Given the description of an element on the screen output the (x, y) to click on. 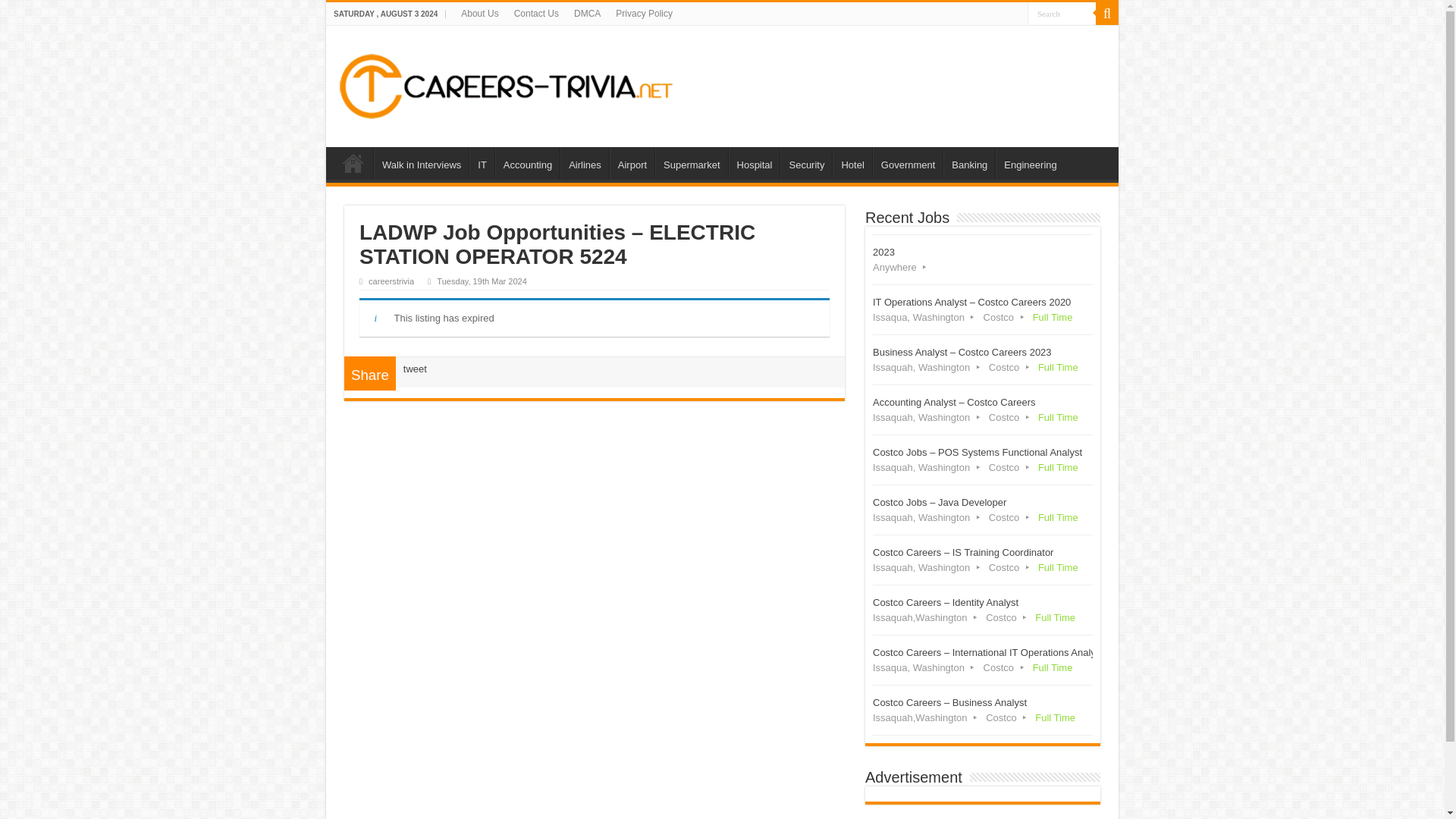
Privacy Policy (643, 13)
Supermarket (690, 163)
Search (1061, 13)
Government (907, 163)
careerstrivia (390, 280)
tweet (414, 368)
Contact Us (536, 13)
Banking (968, 163)
Airport (631, 163)
Airlines (584, 163)
